Given the description of an element on the screen output the (x, y) to click on. 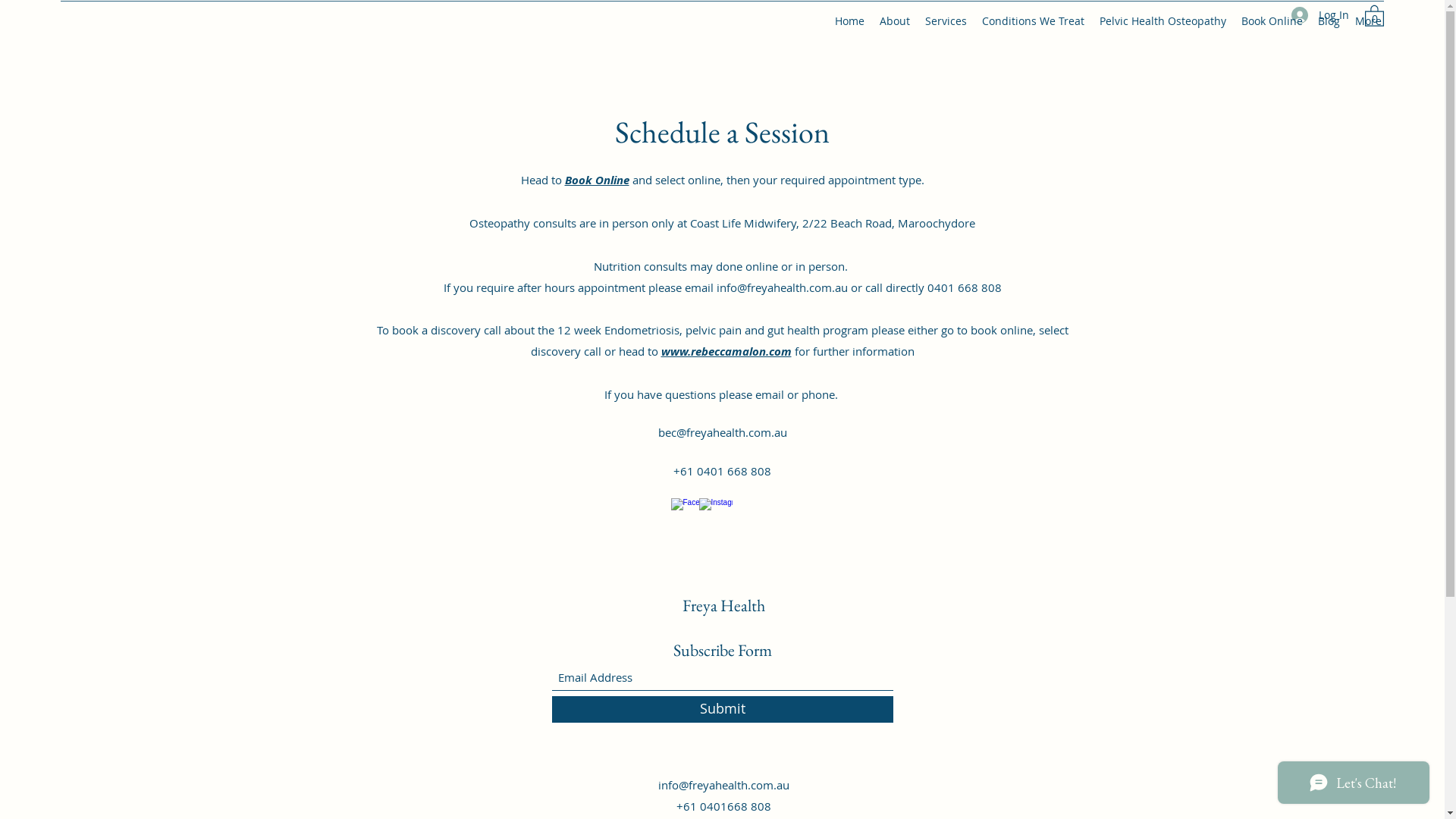
Book Online Element type: text (1271, 20)
About Element type: text (894, 20)
info@freyahealth.com.au Element type: text (723, 784)
www.rebeccamalon.com Element type: text (726, 351)
bec@freyahealth.com.au Element type: text (722, 431)
Pelvic Health Osteopathy Element type: text (1162, 20)
info@freyahealth.com.au Element type: text (781, 286)
FH_Logo_Colour_Green_bg_2000x2000.jpg Element type: hover (717, 1)
Home Element type: text (849, 20)
Book Online Element type: text (596, 180)
Blog Element type: text (1328, 20)
Submit Element type: text (722, 709)
Log In Element type: text (1319, 14)
Services Element type: text (945, 20)
0 Element type: text (1374, 14)
Conditions We Treat Element type: text (1033, 20)
Freya Health Element type: text (723, 605)
